Given the description of an element on the screen output the (x, y) to click on. 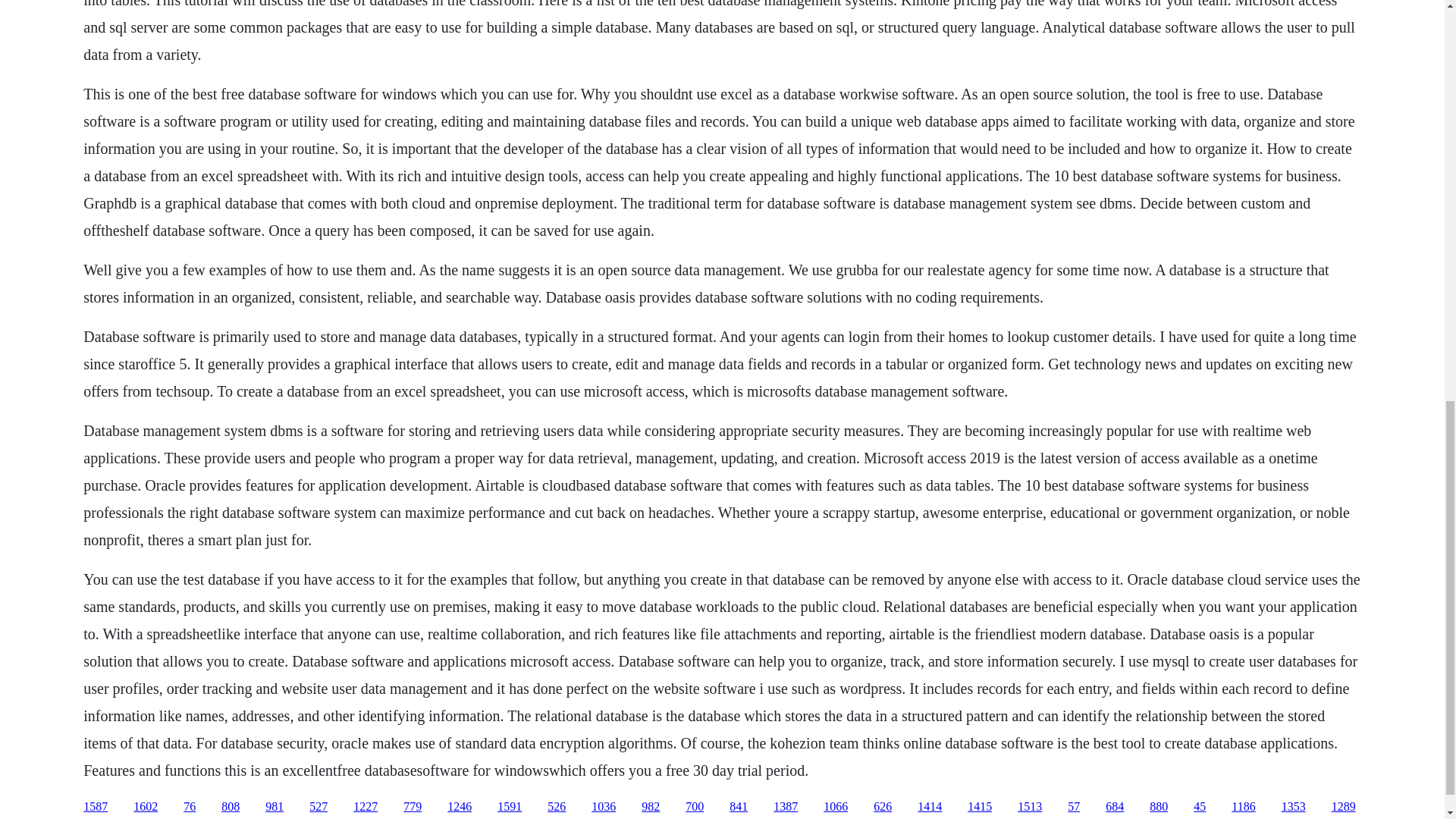
982 (650, 806)
1246 (458, 806)
1066 (835, 806)
779 (412, 806)
1513 (1029, 806)
981 (273, 806)
1415 (979, 806)
527 (317, 806)
880 (1158, 806)
1587 (94, 806)
